Given the description of an element on the screen output the (x, y) to click on. 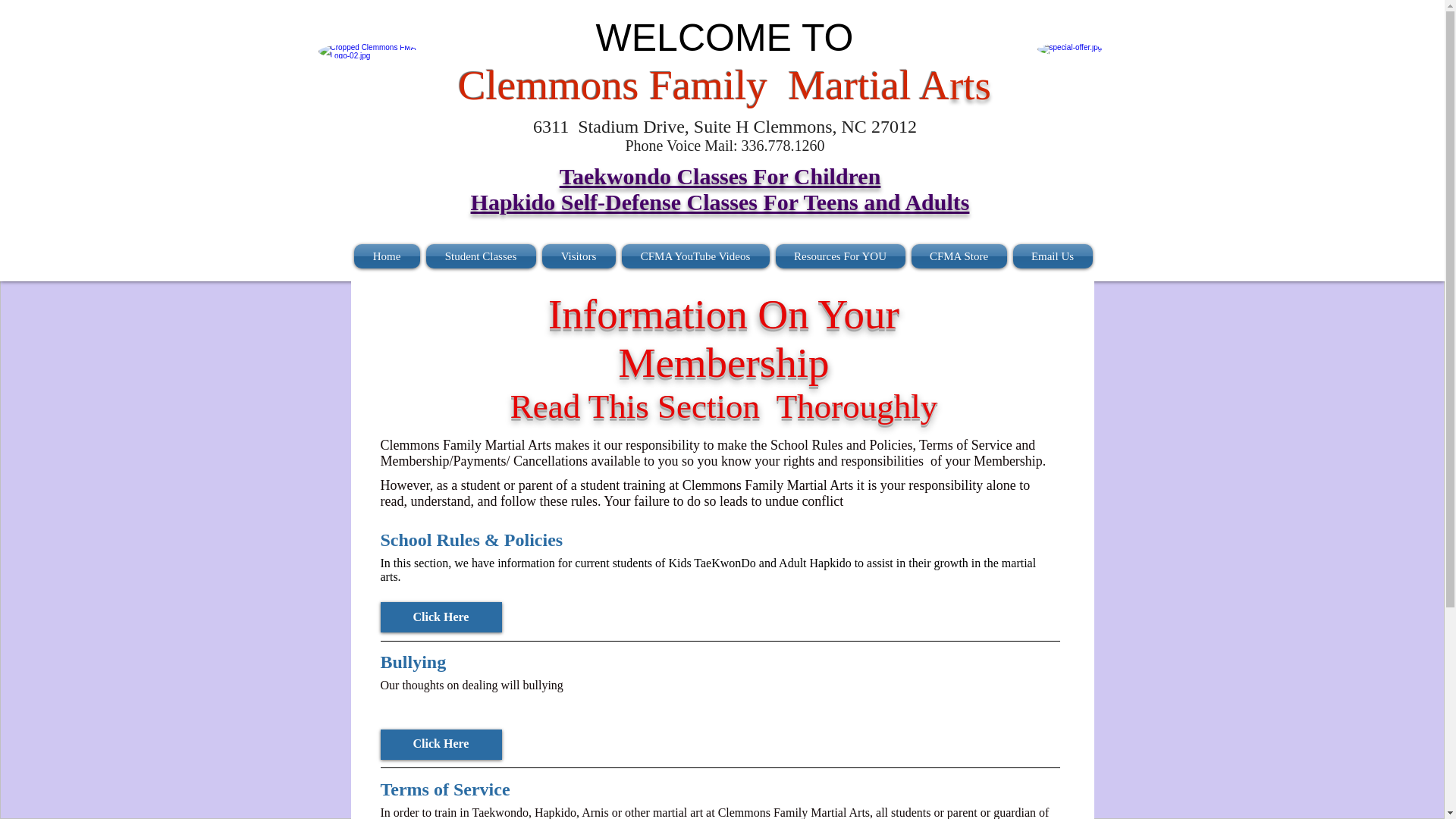
Click Here (441, 616)
Resources For YOU (839, 256)
Trial Program (1080, 90)
Taekwondo Classes For Children (719, 176)
Home (387, 256)
Hapkido Self-Defense Classes For Teens and Adults (719, 201)
Email Us (1051, 256)
CFMA Store (959, 256)
Terms of Service (719, 789)
CFMA  Logo (368, 92)
